Given the description of an element on the screen output the (x, y) to click on. 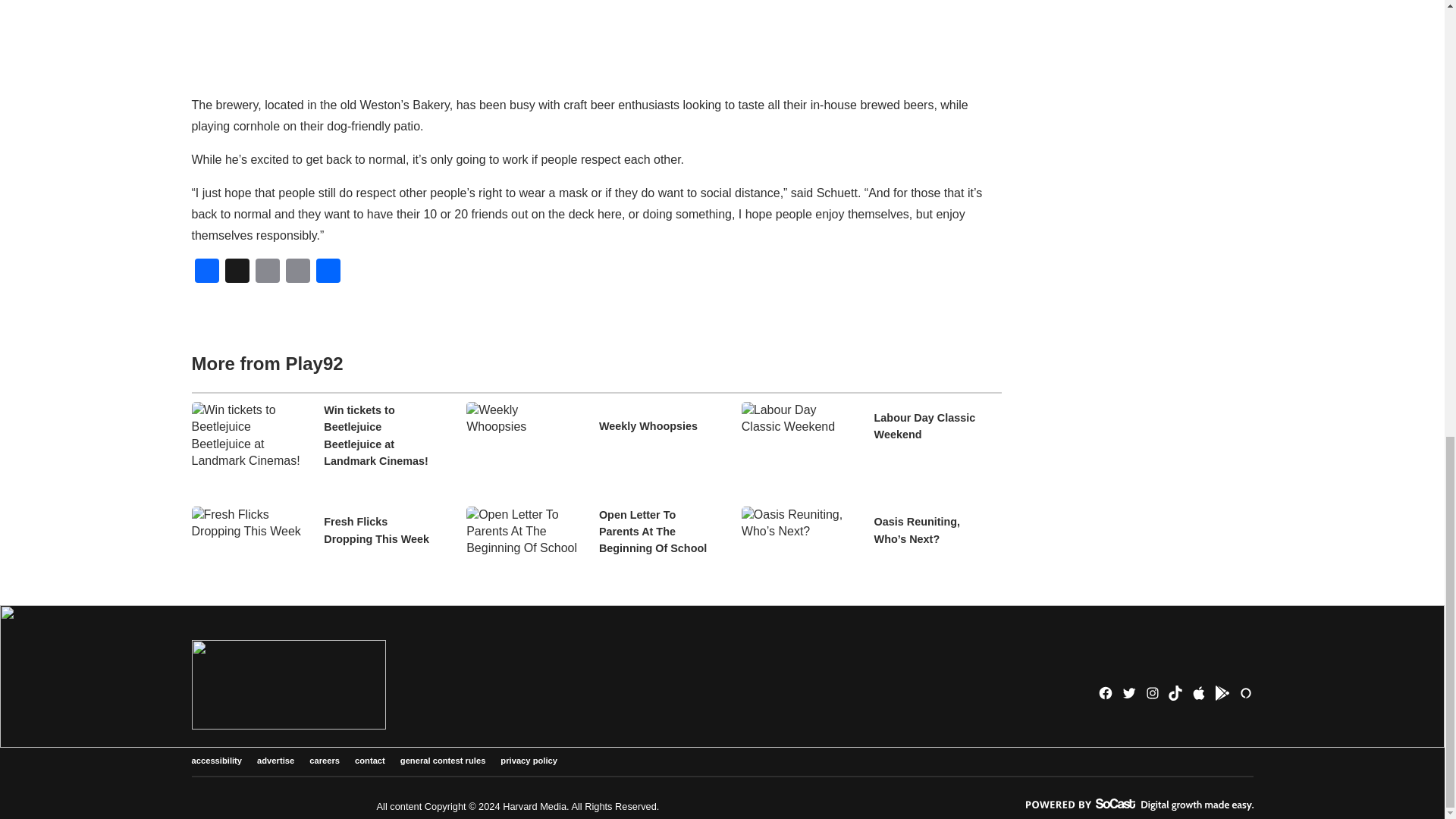
X (236, 272)
Facebook (205, 272)
Fresh Flicks Dropping This Week (380, 530)
advertise (275, 761)
X (236, 272)
Copy Link (297, 272)
Apple Store (1199, 693)
Facebook (205, 272)
accessibility (215, 761)
TikTok (1174, 693)
